Given the description of an element on the screen output the (x, y) to click on. 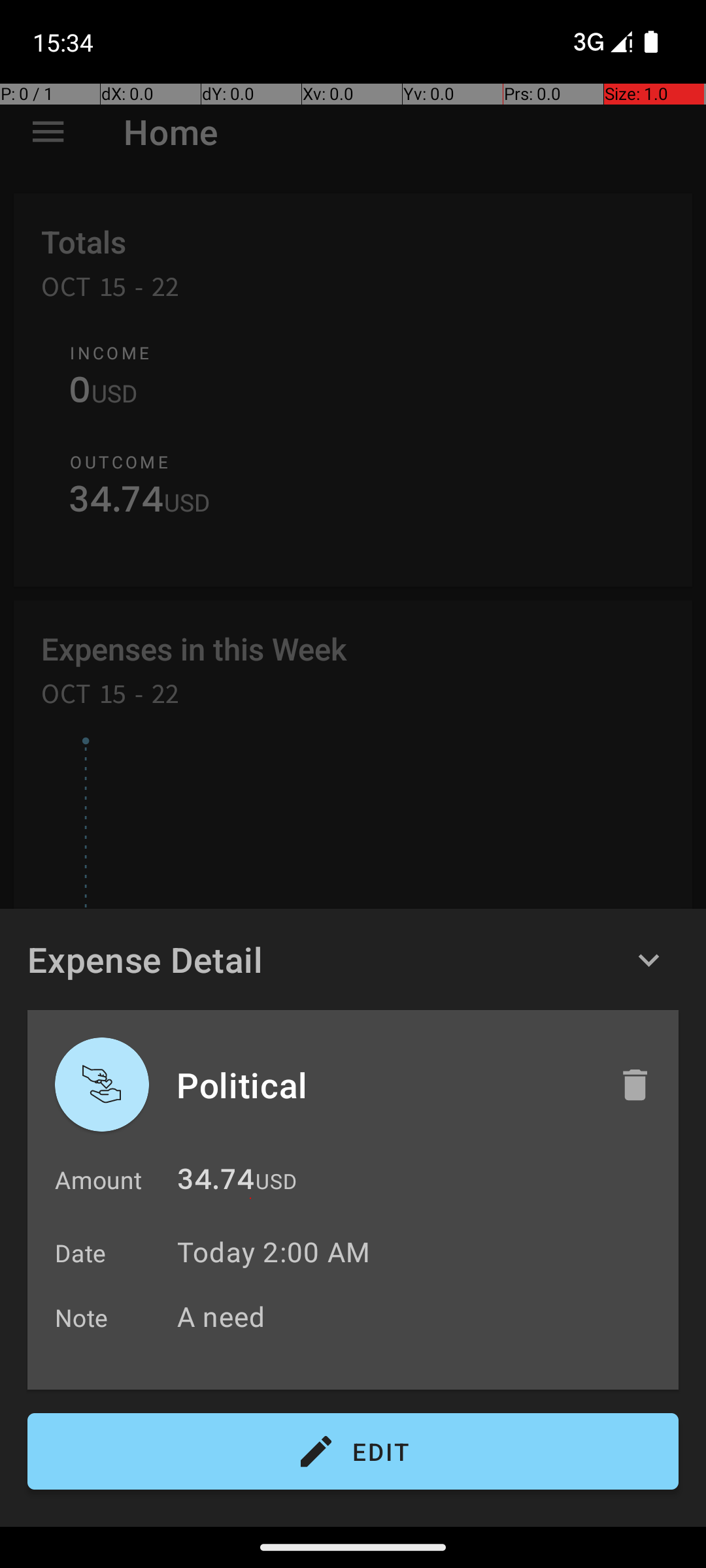
Expense Detail Element type: android.widget.TextView (145, 959)
Political Element type: android.widget.TextView (383, 1084)
Amount Element type: android.widget.TextView (97, 1179)
34.74 Element type: android.widget.TextView (215, 1182)
Date Element type: android.widget.TextView (80, 1252)
Today 2:00 AM Element type: android.widget.TextView (273, 1251)
Note Element type: android.widget.TextView (81, 1317)
A need Element type: android.widget.TextView (420, 1315)
EDIT Element type: android.widget.Button (352, 1451)
